Given the description of an element on the screen output the (x, y) to click on. 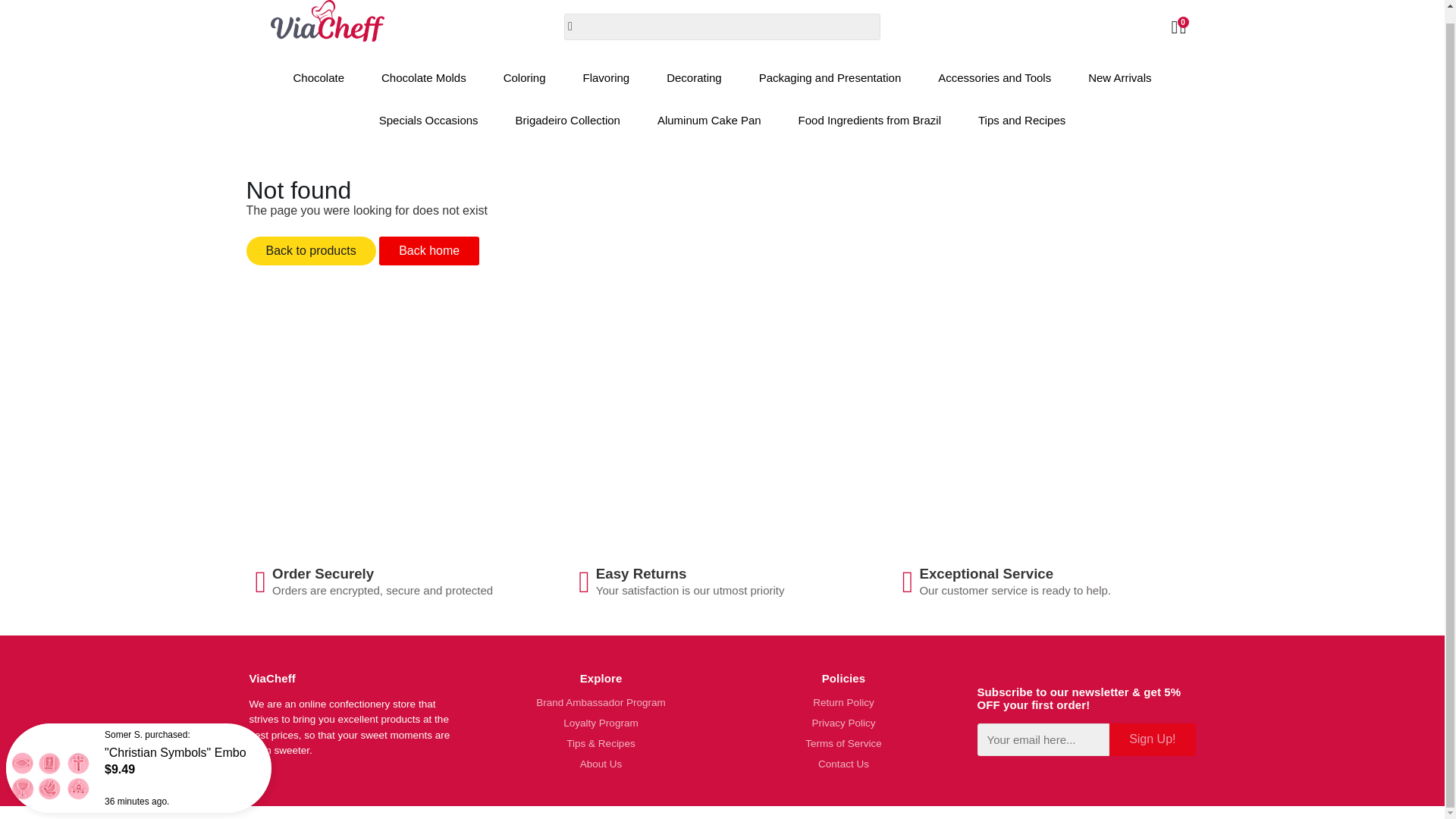
Flavoring (606, 77)
Decorating (693, 77)
Coloring (523, 77)
Chocolate Molds (423, 77)
Chocolate (318, 77)
